Given the description of an element on the screen output the (x, y) to click on. 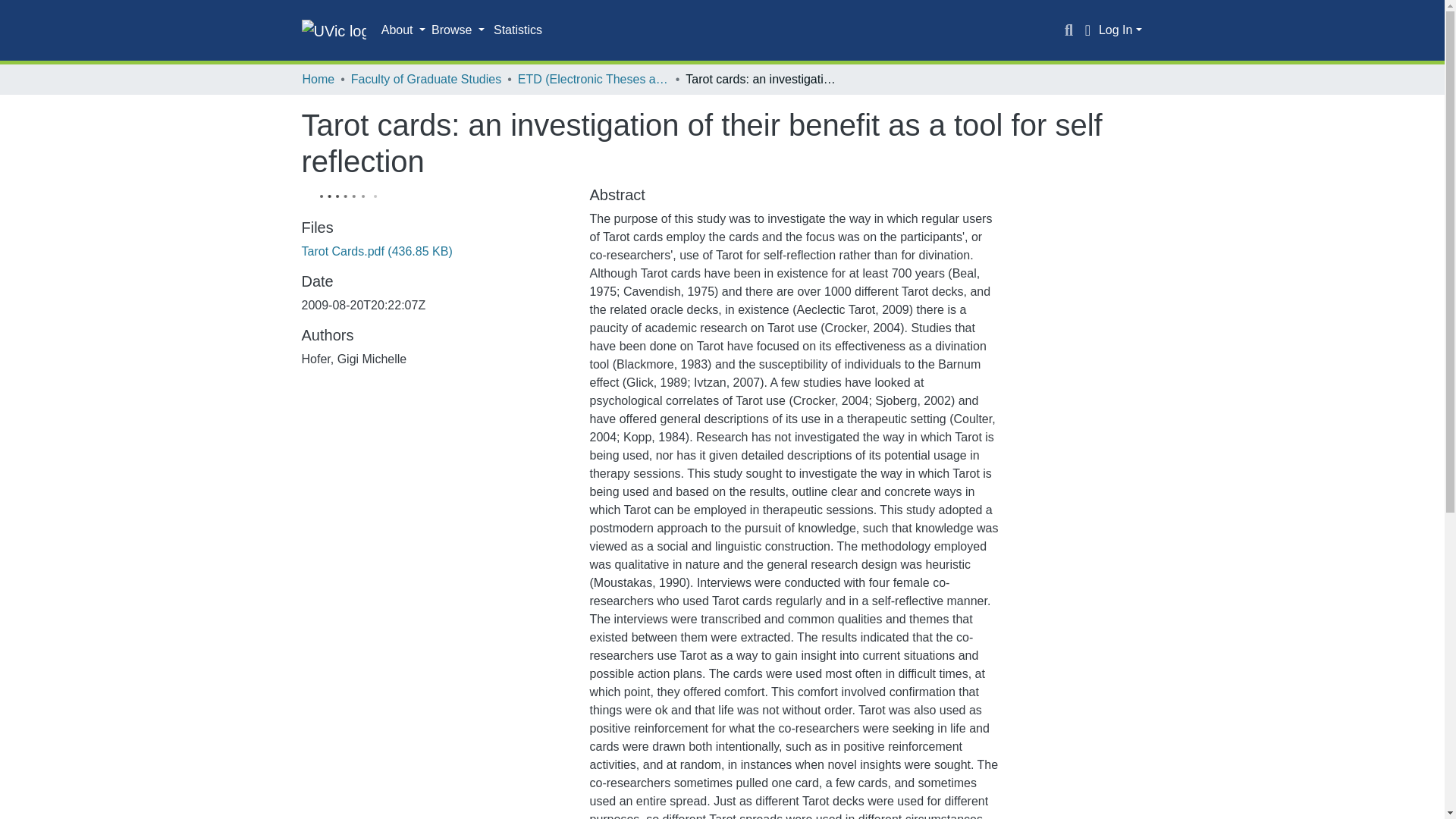
Search (1068, 30)
Log In (1119, 29)
Statistics (517, 30)
Statistics (517, 30)
Faculty of Graduate Studies (425, 79)
About (403, 30)
Language switch (1087, 30)
Browse (457, 30)
Home (317, 79)
